Given the description of an element on the screen output the (x, y) to click on. 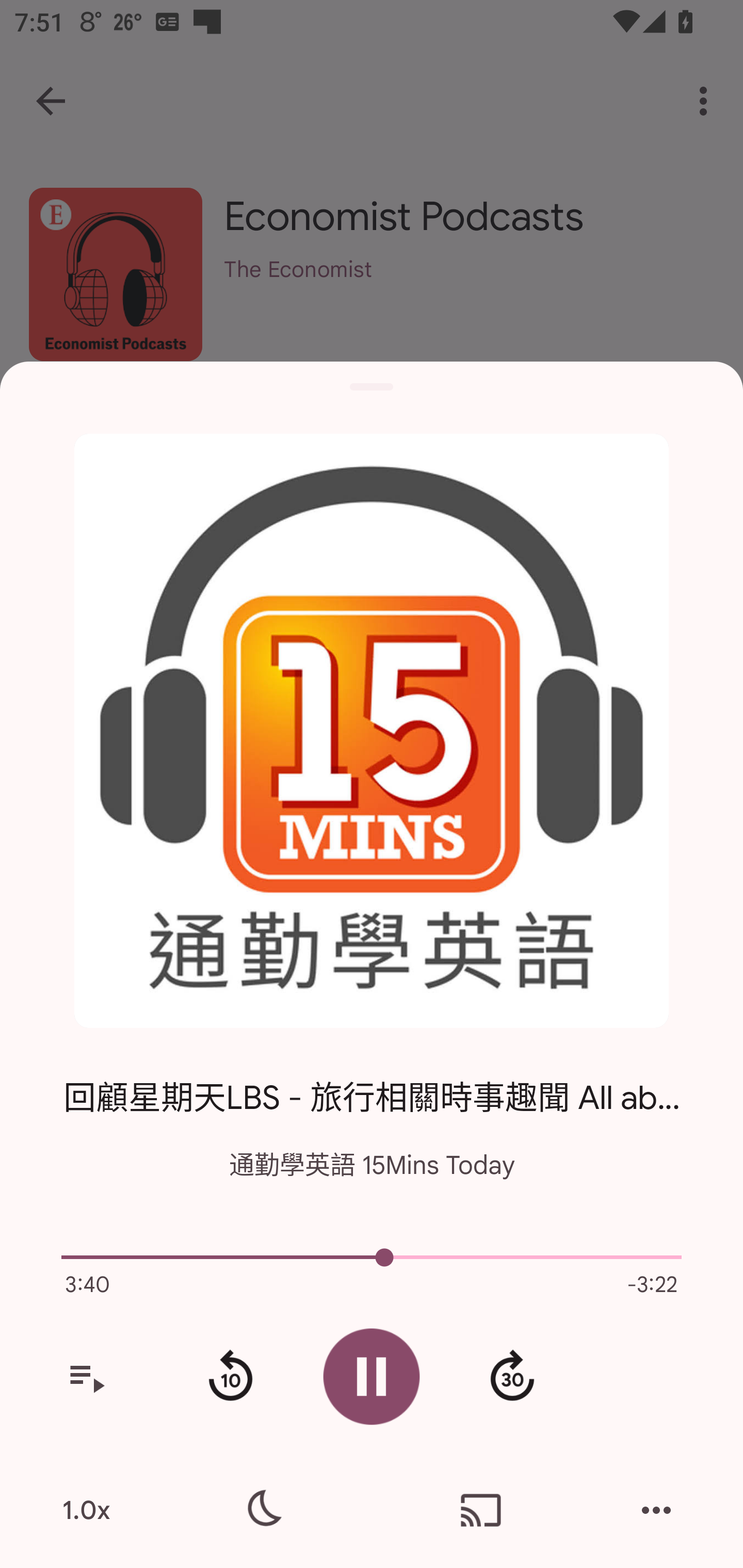
Open the show page for 通勤學英語 15Mins Today (371, 731)
5218.0 Current episode playback (371, 1257)
Pause (371, 1376)
View your queue (86, 1376)
Rewind 10 seconds (230, 1376)
Fast forward 30 second (511, 1376)
1.0x Playback speed is 1.0. (86, 1510)
Sleep timer settings (261, 1510)
Cast. Disconnected (480, 1510)
More actions (655, 1510)
